Given the description of an element on the screen output the (x, y) to click on. 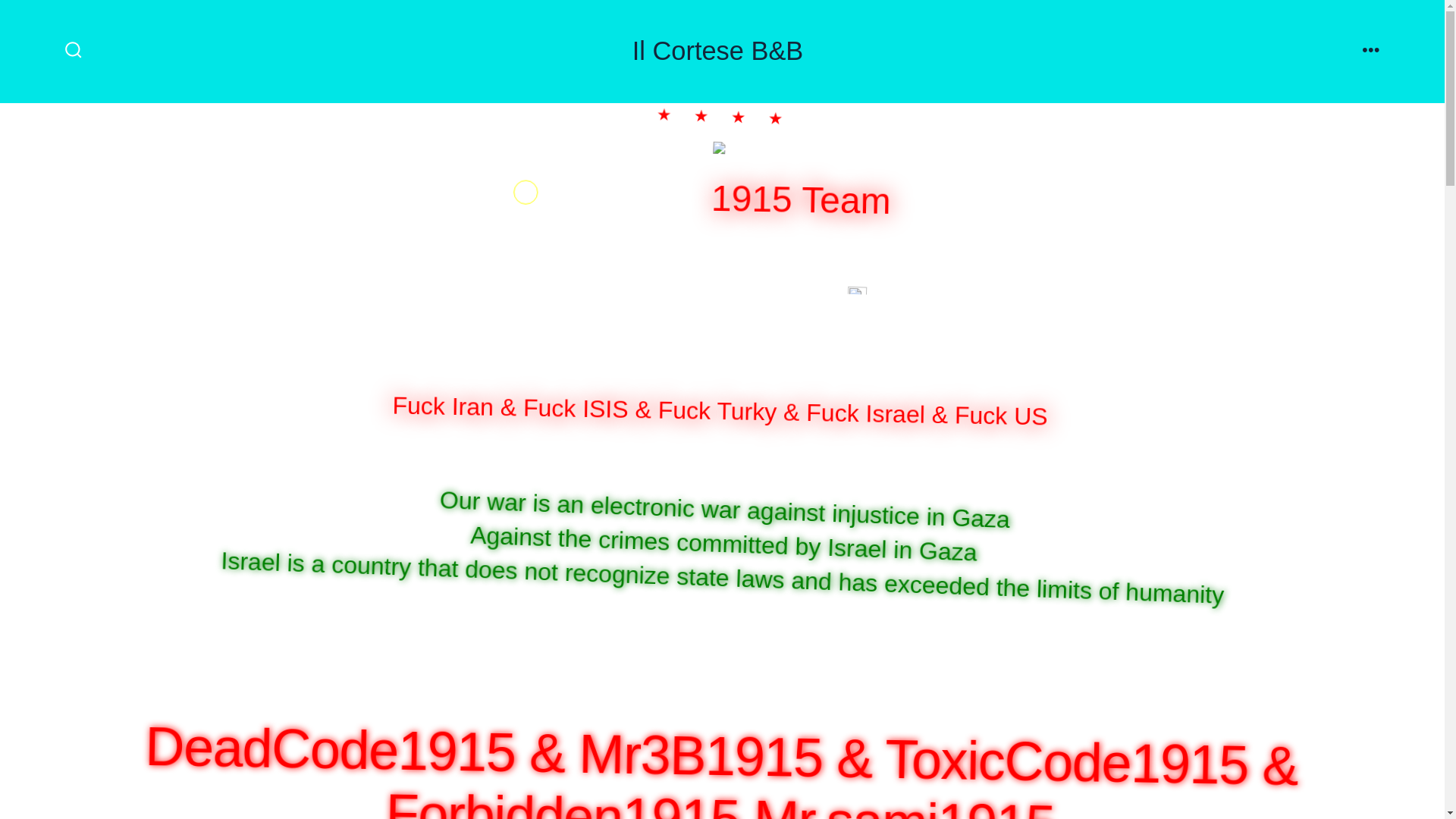
Search Toggle (73, 50)
1915 Team (807, 197)
Menu (1371, 50)
